Given the description of an element on the screen output the (x, y) to click on. 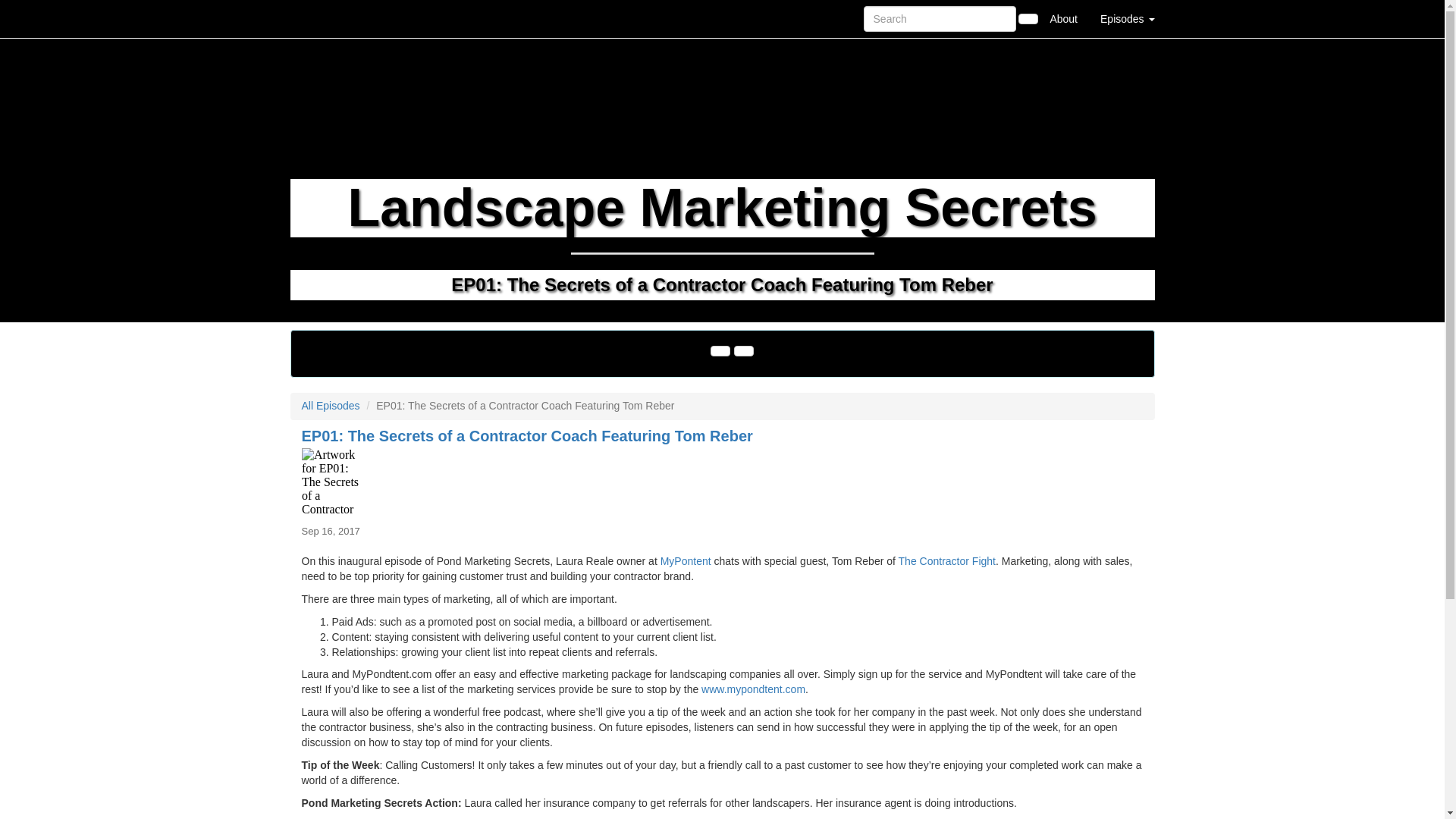
Home Page (320, 18)
Episodes (1127, 18)
About (1063, 18)
EP01: The Secrets of a Contractor Coach Featuring Tom Reber (721, 481)
